Given the description of an element on the screen output the (x, y) to click on. 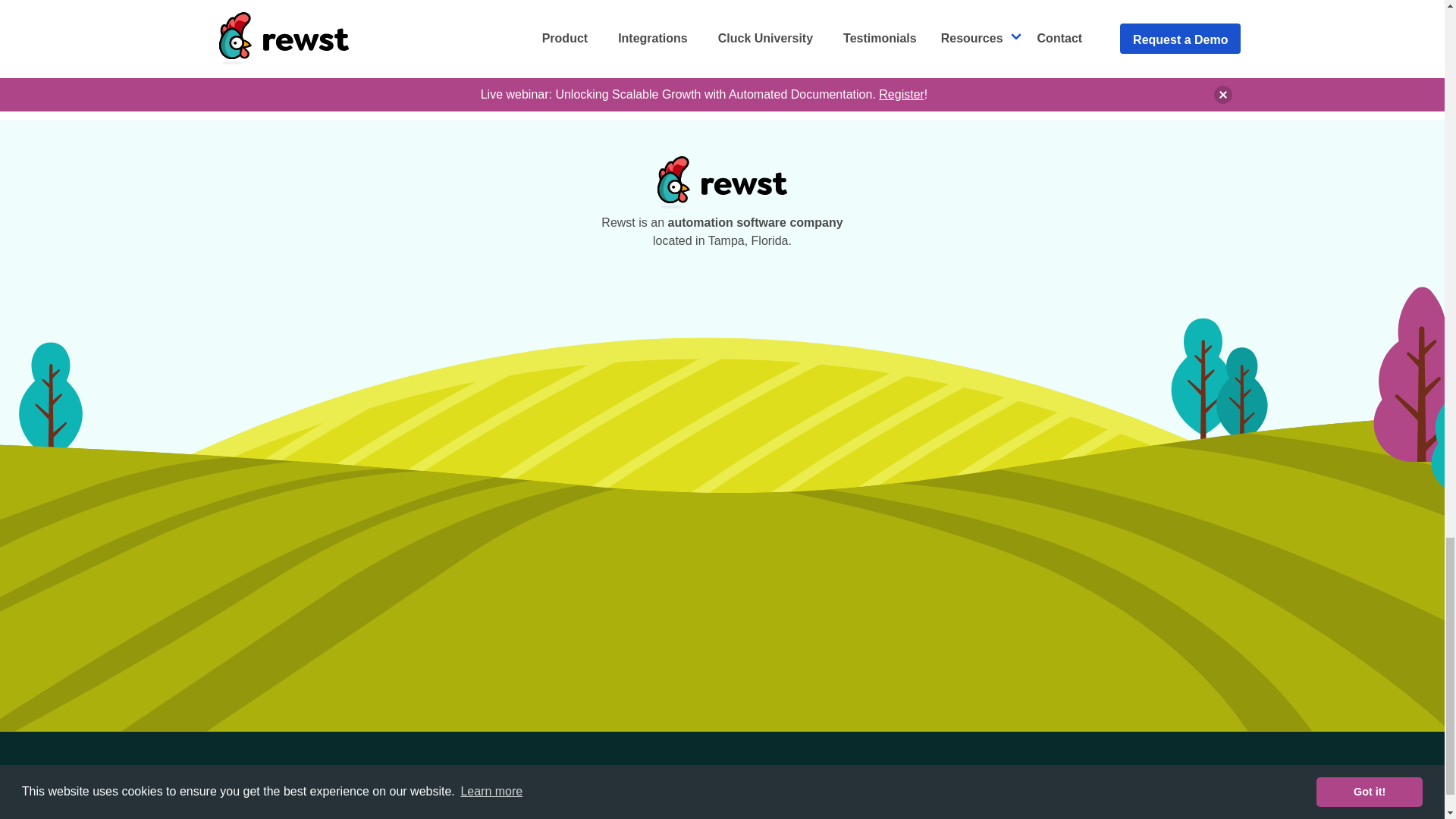
LinkedIn (978, 793)
Privacy Policy (636, 28)
Careers (708, 793)
Terms Of Service (813, 793)
YouTube (579, 793)
Unlocking Scalable MSP Growth with Automated Documentation (1043, 793)
